Given the description of an element on the screen output the (x, y) to click on. 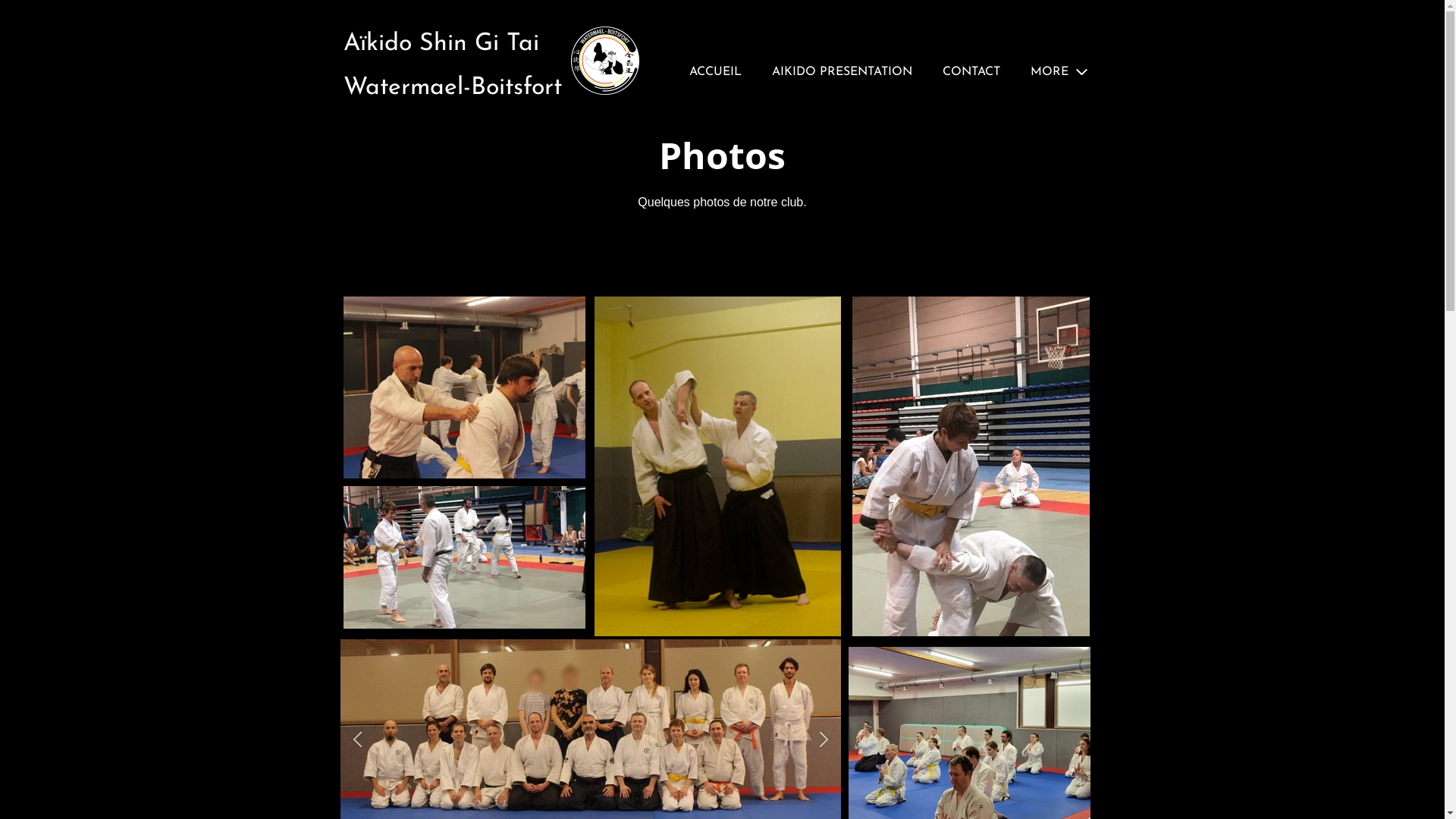
MORE Element type: text (1057, 71)
AIKIDO PRESENTATION Element type: text (841, 71)
CONTACT Element type: text (970, 71)
ACCUEIL Element type: text (714, 71)
